Given the description of an element on the screen output the (x, y) to click on. 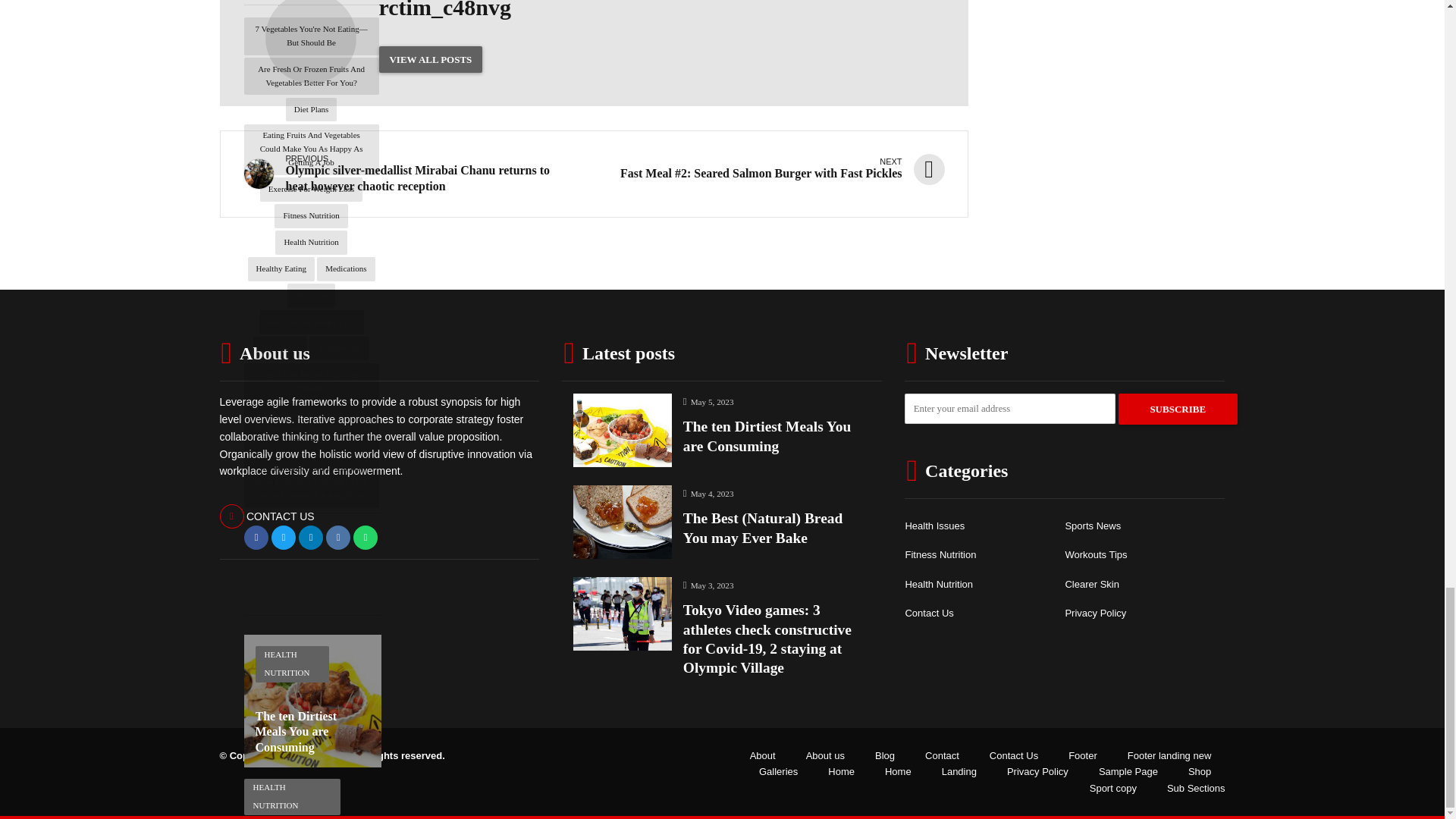
Supplements (338, 348)
Nutrition (310, 295)
Health Nutrition (310, 242)
Diet Plans (311, 109)
Fitness Nutrition (311, 215)
The ten Dirtiest Meals You are Consuming (295, 732)
Subscribe (1177, 409)
Exercise For Weight Loss (311, 189)
Nutrition For Weight Loss (311, 322)
